Given the description of an element on the screen output the (x, y) to click on. 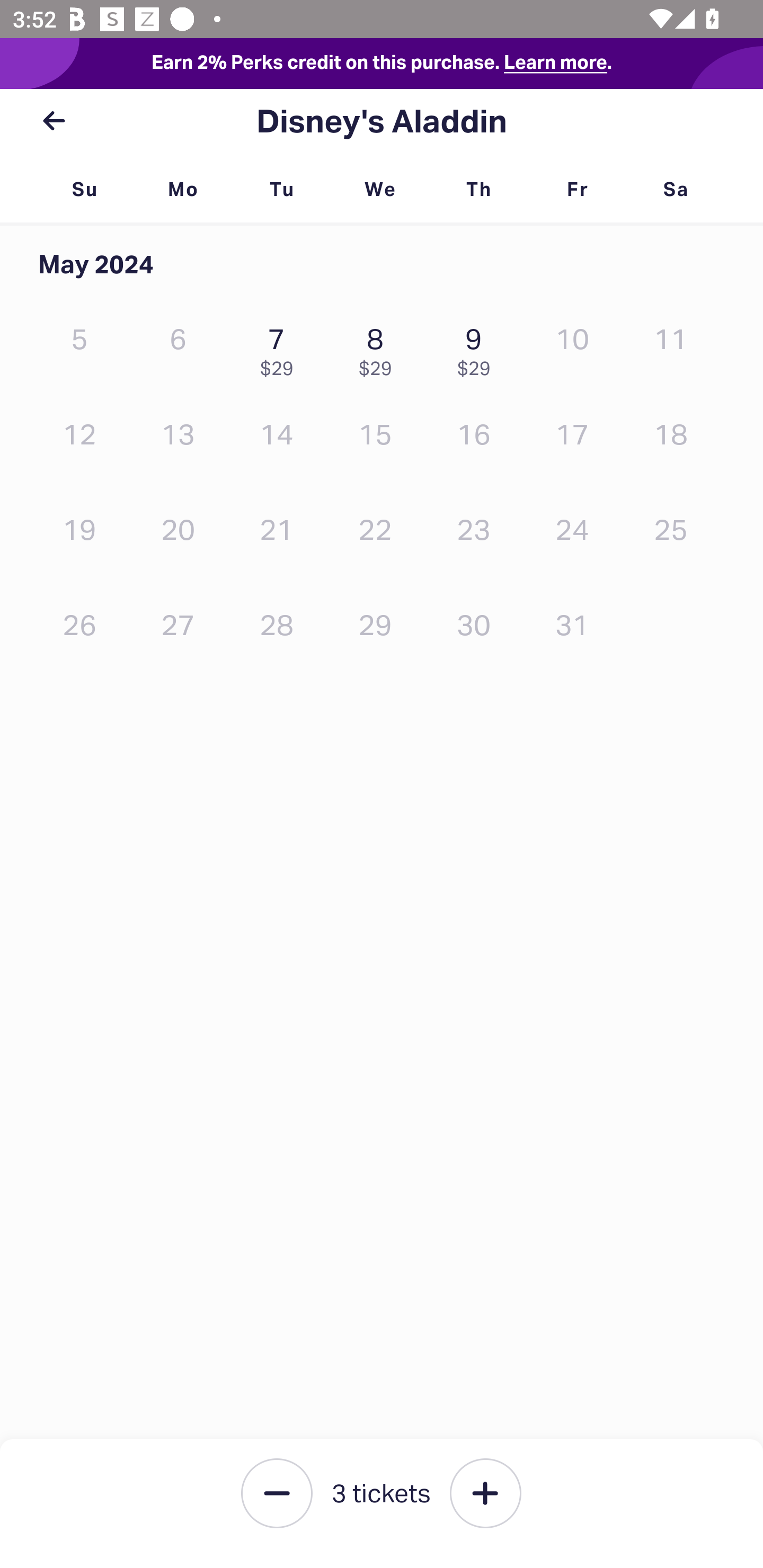
Earn 2% Perks credit on this purchase. Learn more. (381, 63)
back button (53, 120)
7 $29 (281, 347)
8 $29 (379, 347)
9 $29 (478, 347)
